Given the description of an element on the screen output the (x, y) to click on. 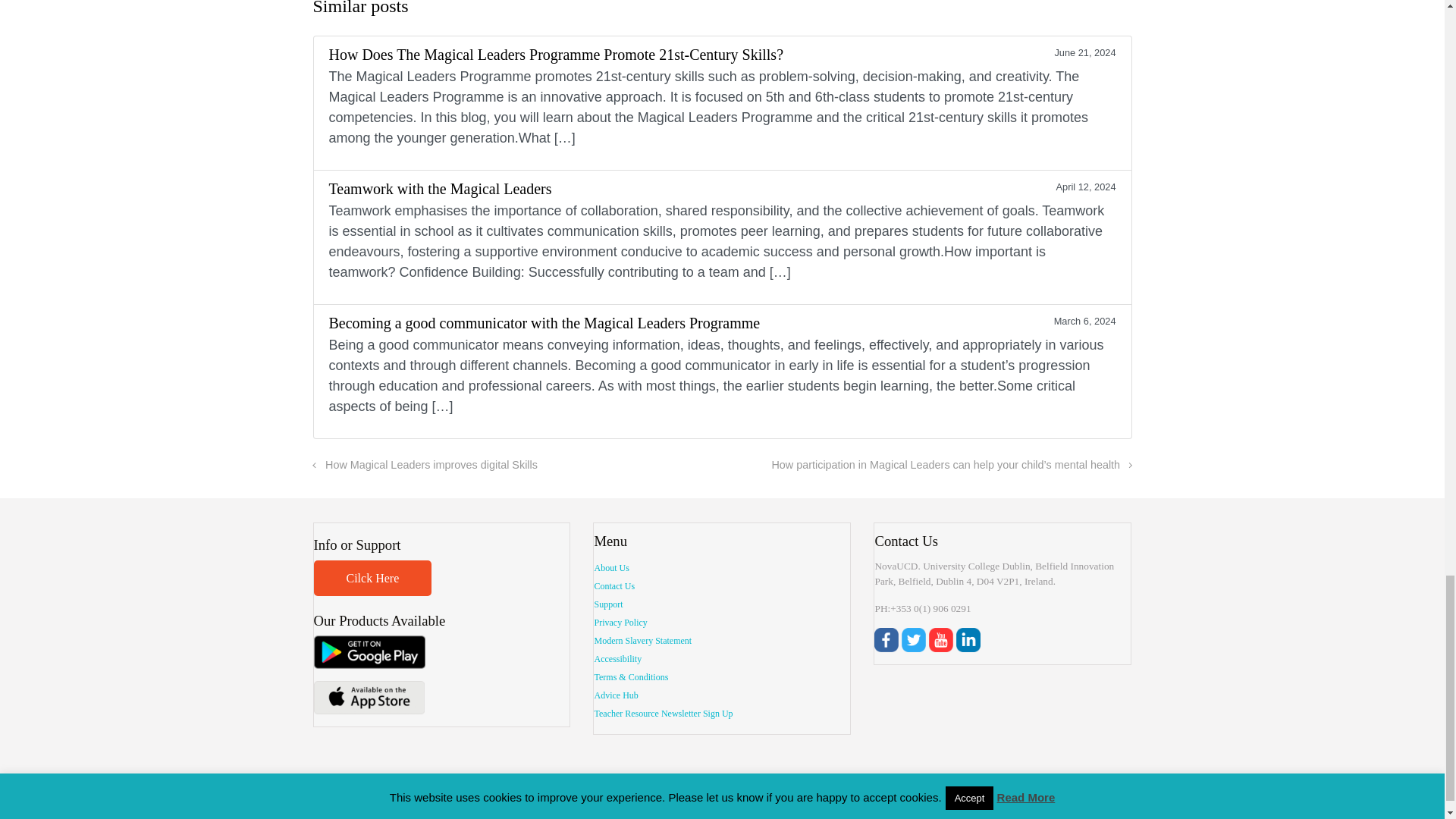
Permanent Link to Teamwork with the Magical Leaders (722, 236)
